Given the description of an element on the screen output the (x, y) to click on. 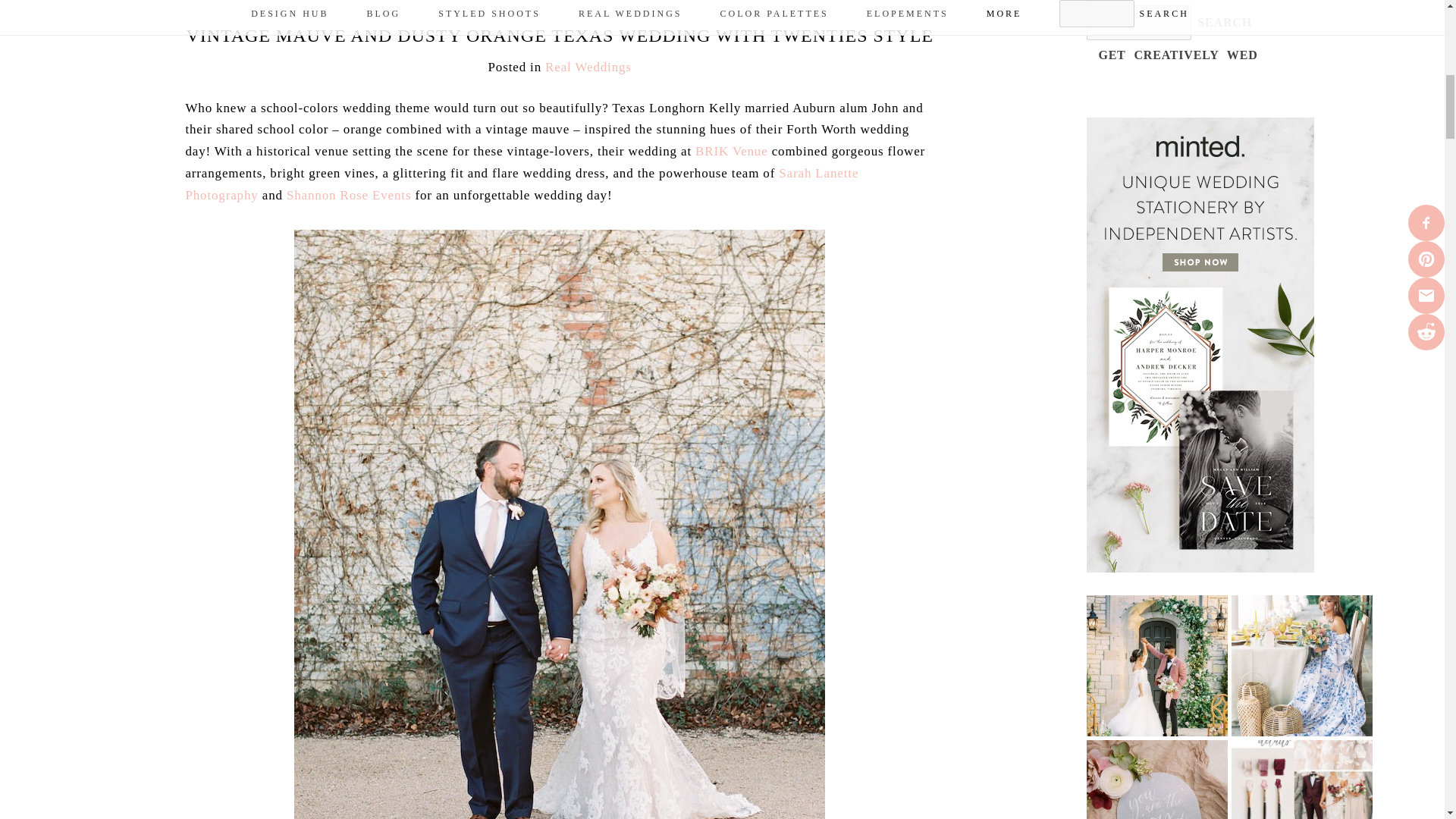
Search (1223, 22)
Search (1223, 22)
